Given the description of an element on the screen output the (x, y) to click on. 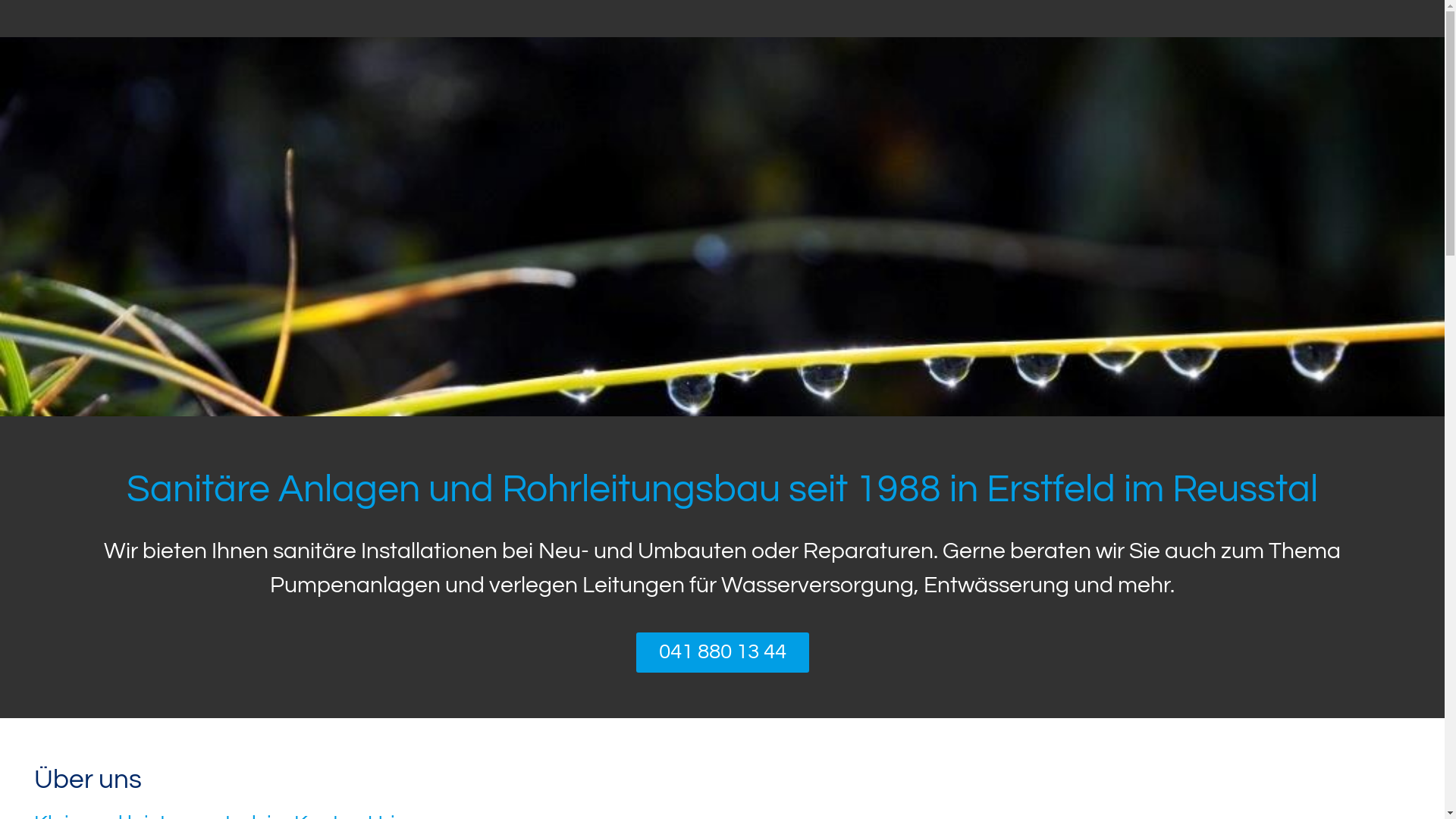
041 880 13 44 Element type: text (721, 652)
